Given the description of an element on the screen output the (x, y) to click on. 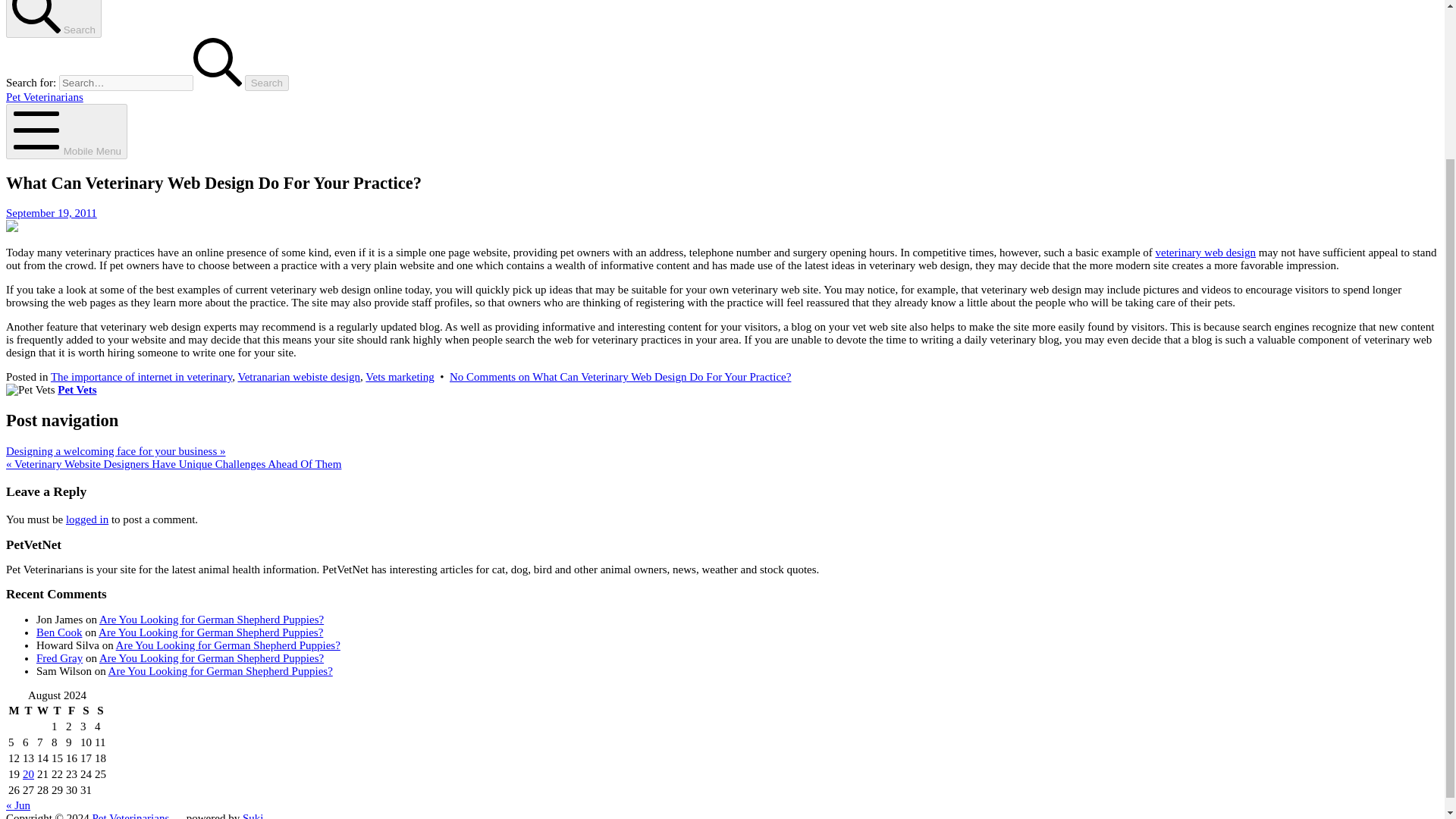
Are You Looking for German Shepherd Puppies? (211, 619)
Tuesday (27, 710)
Search (266, 82)
Pet Vets (77, 389)
Are You Looking for German Shepherd Puppies? (228, 645)
Posts by Pet Vets (77, 389)
Fred Gray (59, 657)
Friday (71, 710)
Vetranarian webiste design (298, 377)
